Given the description of an element on the screen output the (x, y) to click on. 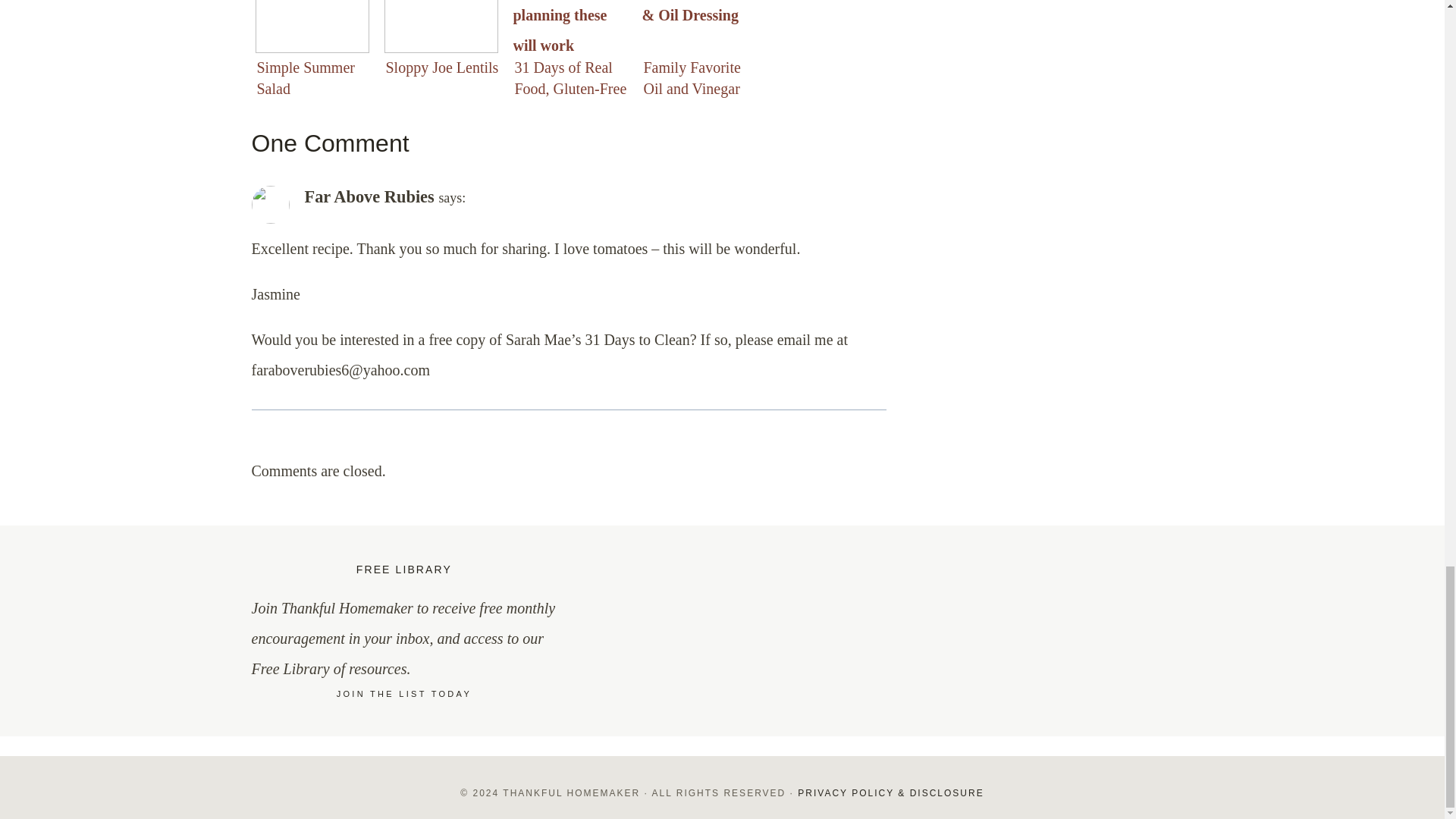
31 Days of Real Food, Gluten-Free Friendly, Dinner Plans (569, 43)
Family Favorite Oil and Vinegar Salad Dressing (699, 43)
Sloppy Joe Lentils (441, 43)
